Given the description of an element on the screen output the (x, y) to click on. 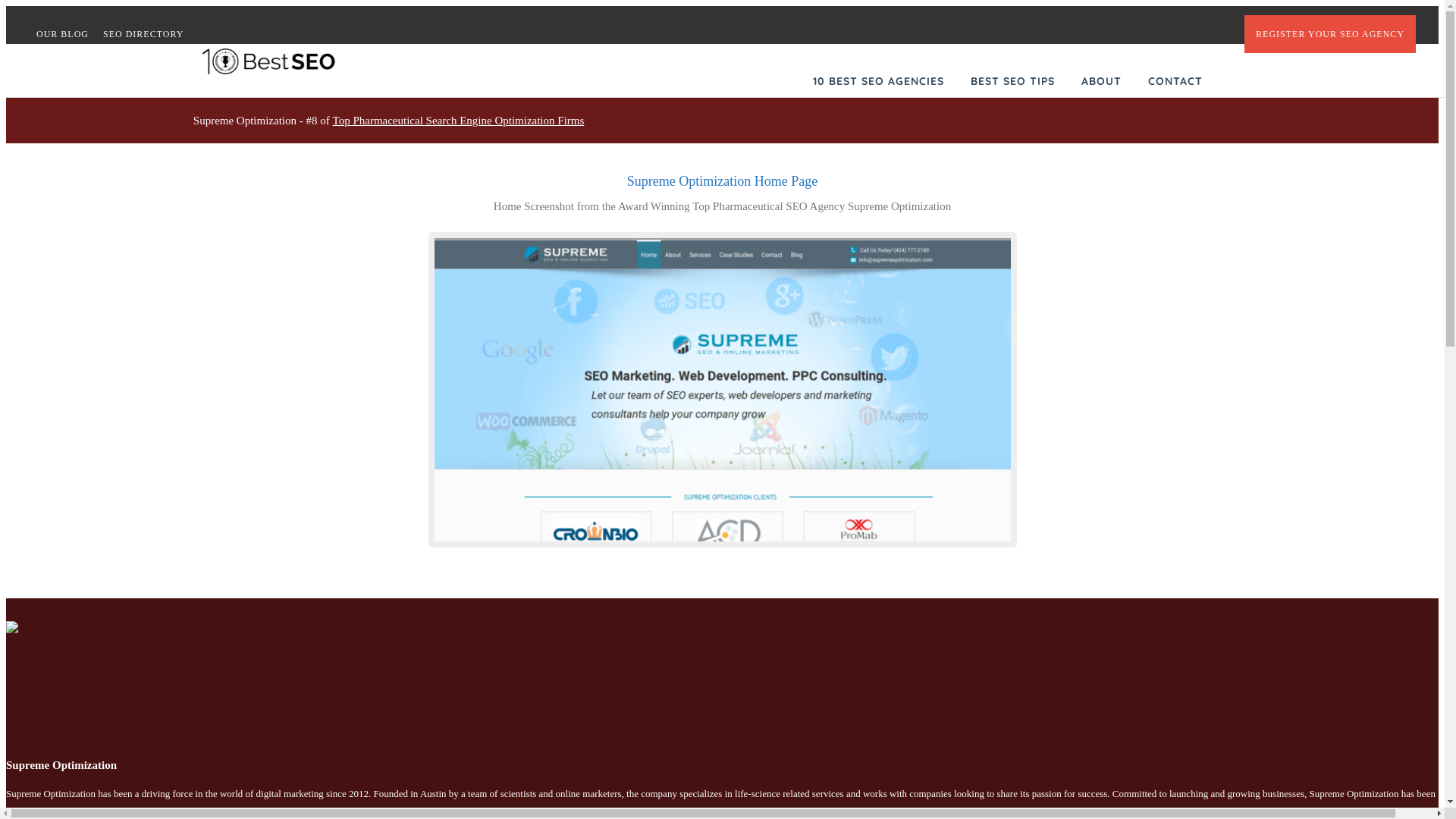
OUR BLOG Element type: text (68, 33)
Supreme Optimization Home Page Element type: hover (727, 392)
BEST SEO TIPS Element type: text (1012, 80)
10 BEST SEO AGENCIES Element type: text (878, 80)
ABOUT Element type: text (1101, 80)
CONTACT Element type: text (1175, 80)
SEO DIRECTORY Element type: text (148, 33)
Top Pharmaceutical Search Engine Optimization Firms Element type: text (458, 120)
REGISTER YOUR SEO AGENCY Element type: text (1329, 33)
